Given the description of an element on the screen output the (x, y) to click on. 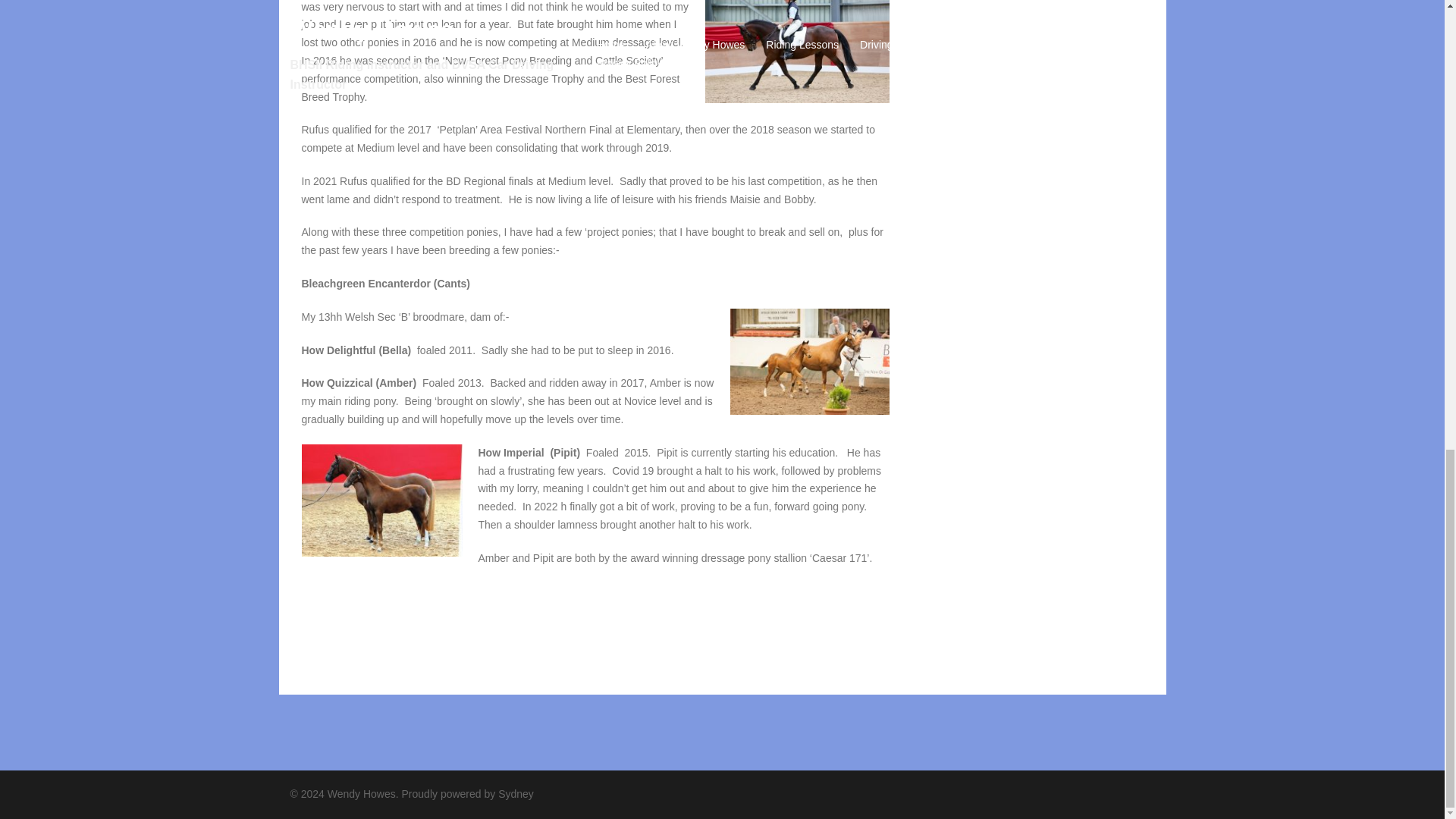
Sydney (515, 793)
